Given the description of an element on the screen output the (x, y) to click on. 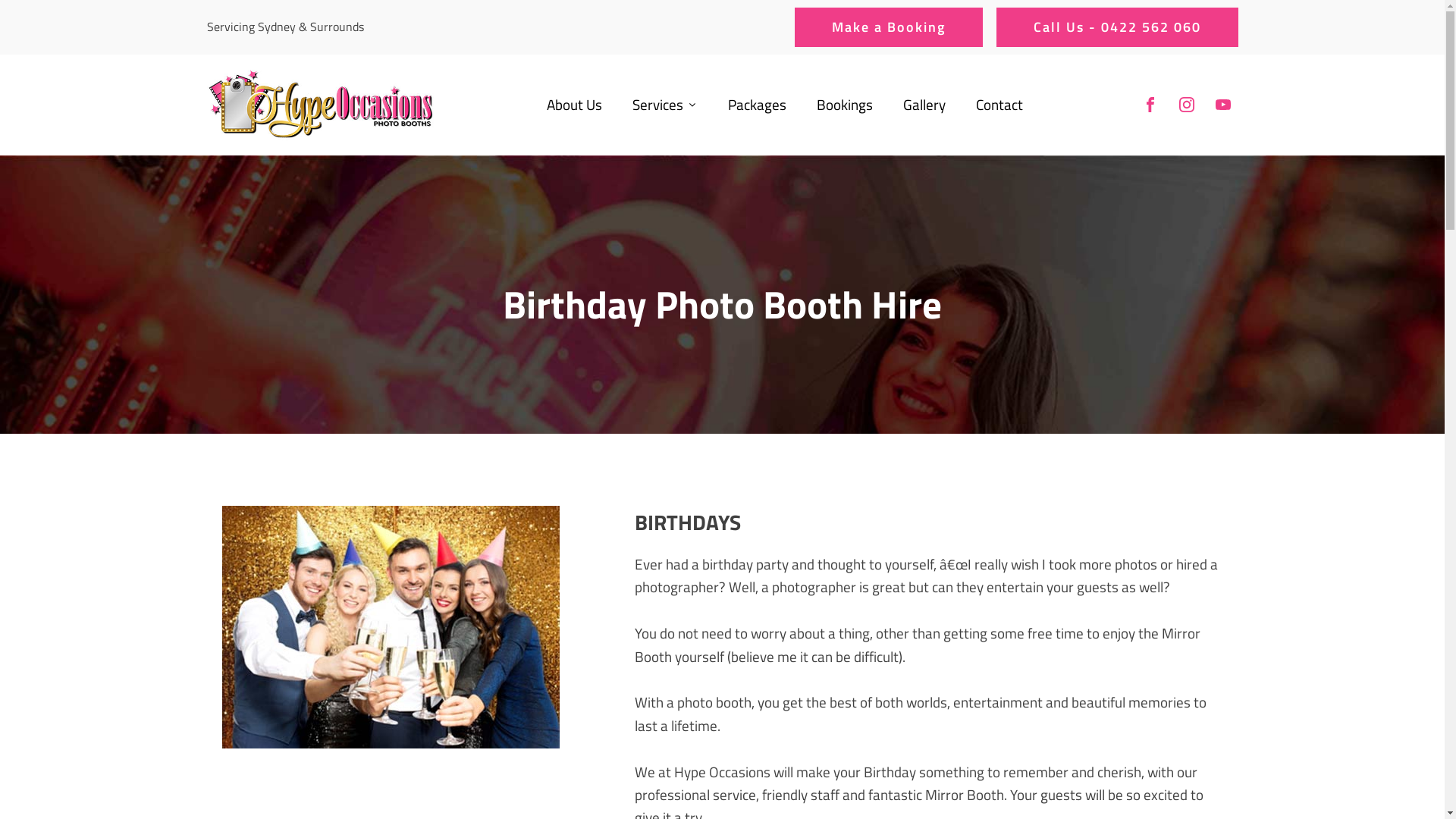
Make a Booking Element type: text (888, 27)
Contact Element type: text (998, 104)
Gallery Element type: text (923, 104)
Bookings Element type: text (843, 104)
Services Element type: text (664, 104)
About Us Element type: text (573, 104)
Call Us - 0422 562 060 Element type: text (1117, 27)
Packages Element type: text (756, 104)
